Given the description of an element on the screen output the (x, y) to click on. 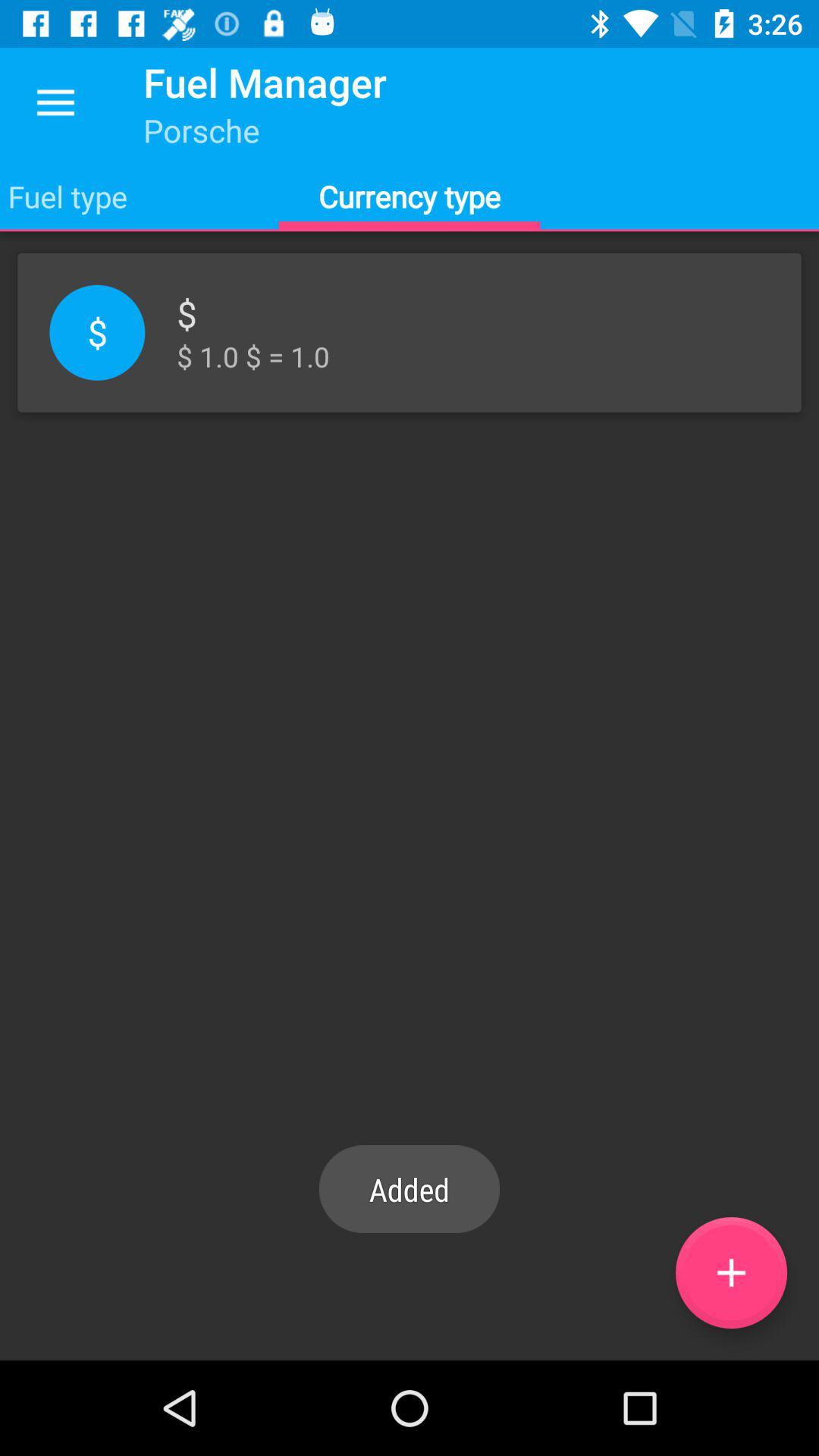
add new (731, 1272)
